Given the description of an element on the screen output the (x, y) to click on. 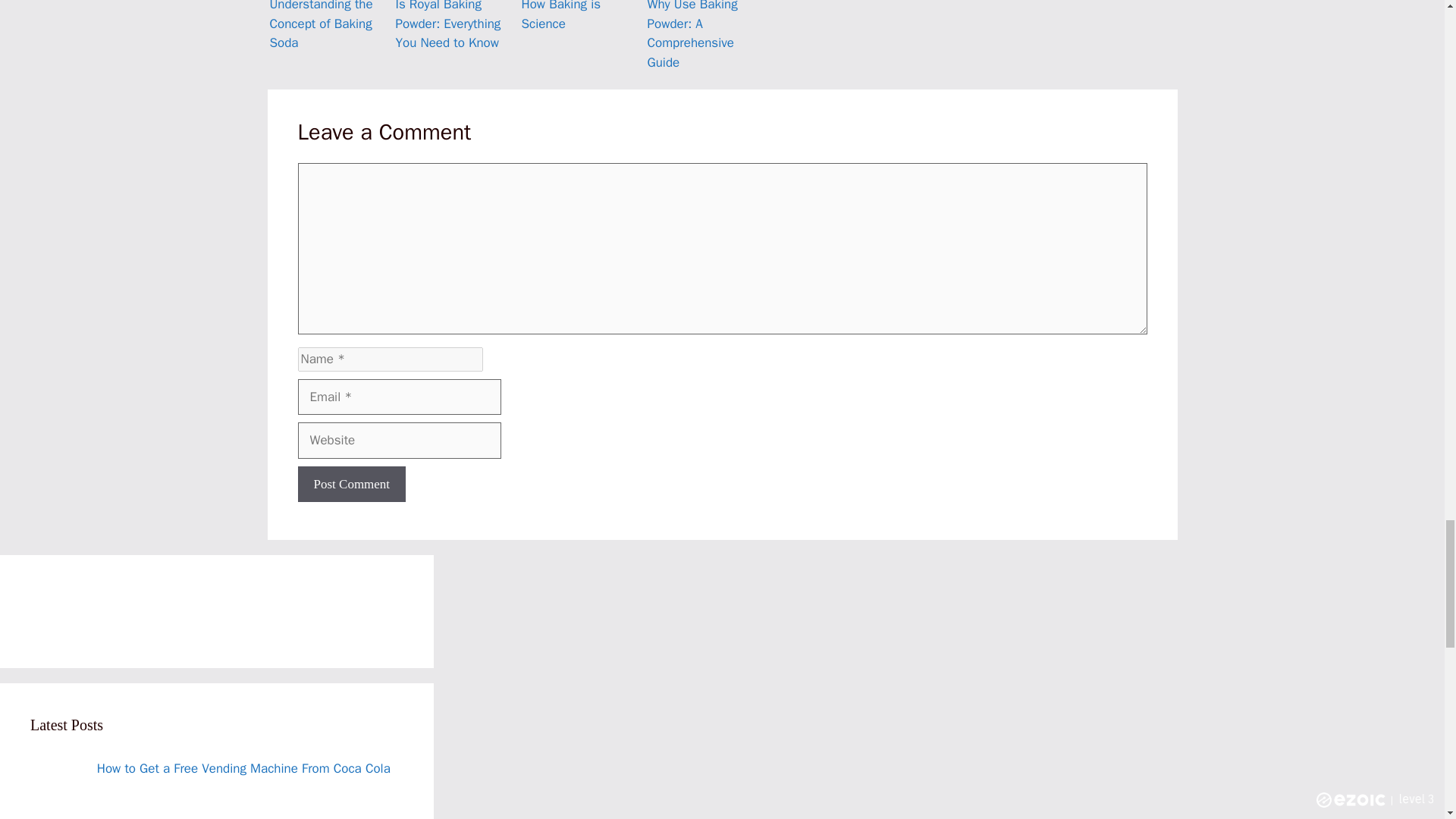
Is Royal Baking Powder: Everything You Need to Know (452, 37)
How Baking is Science (577, 37)
Why Use Baking Powder: A Comprehensive Guide (703, 37)
Post Comment (351, 484)
Understanding the Concept of Baking Soda (325, 37)
How to Get a Free Vending Machine From Coca Cola (243, 768)
Post Comment (351, 484)
